Given the description of an element on the screen output the (x, y) to click on. 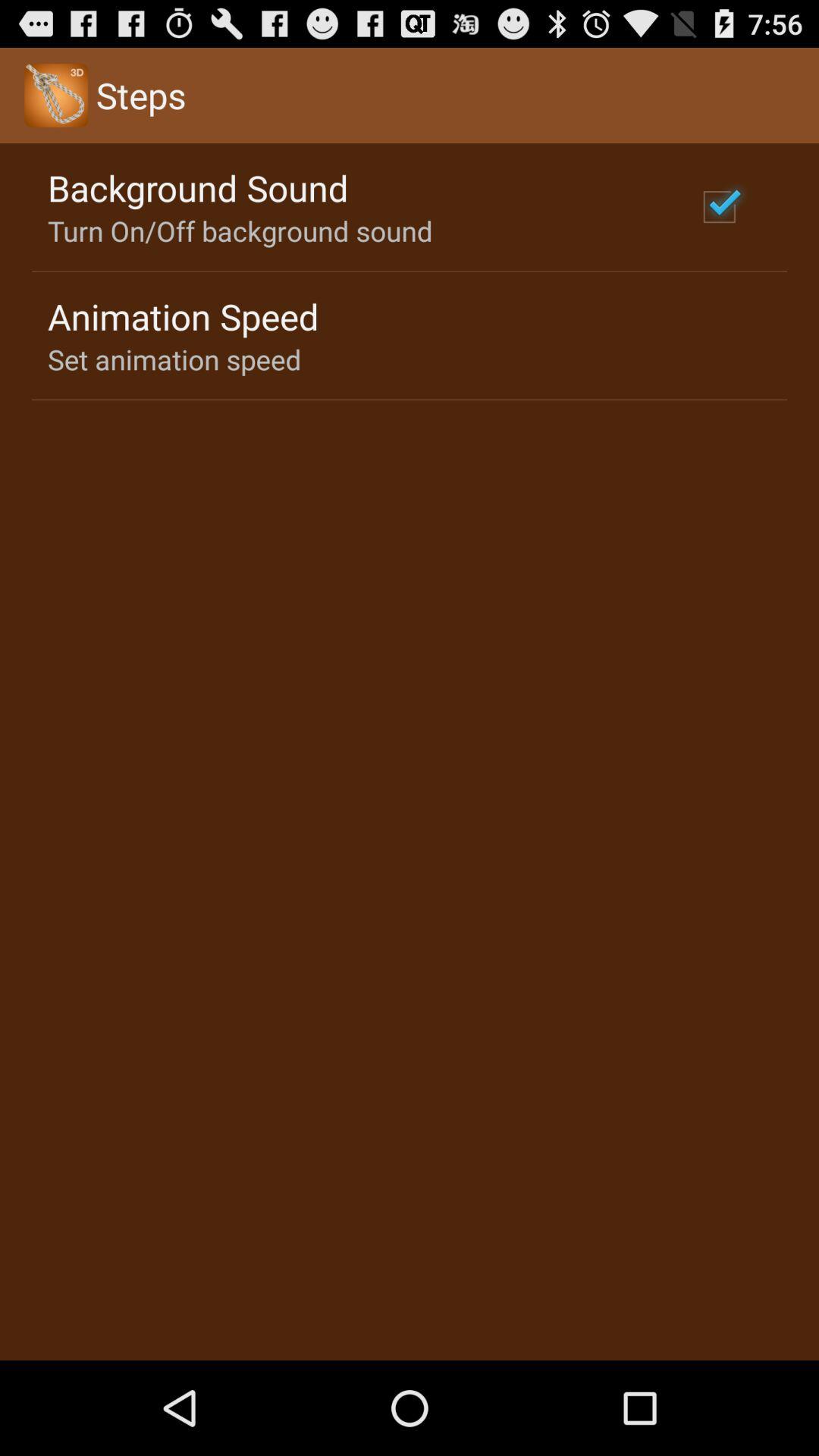
open the icon below the background sound (239, 230)
